Given the description of an element on the screen output the (x, y) to click on. 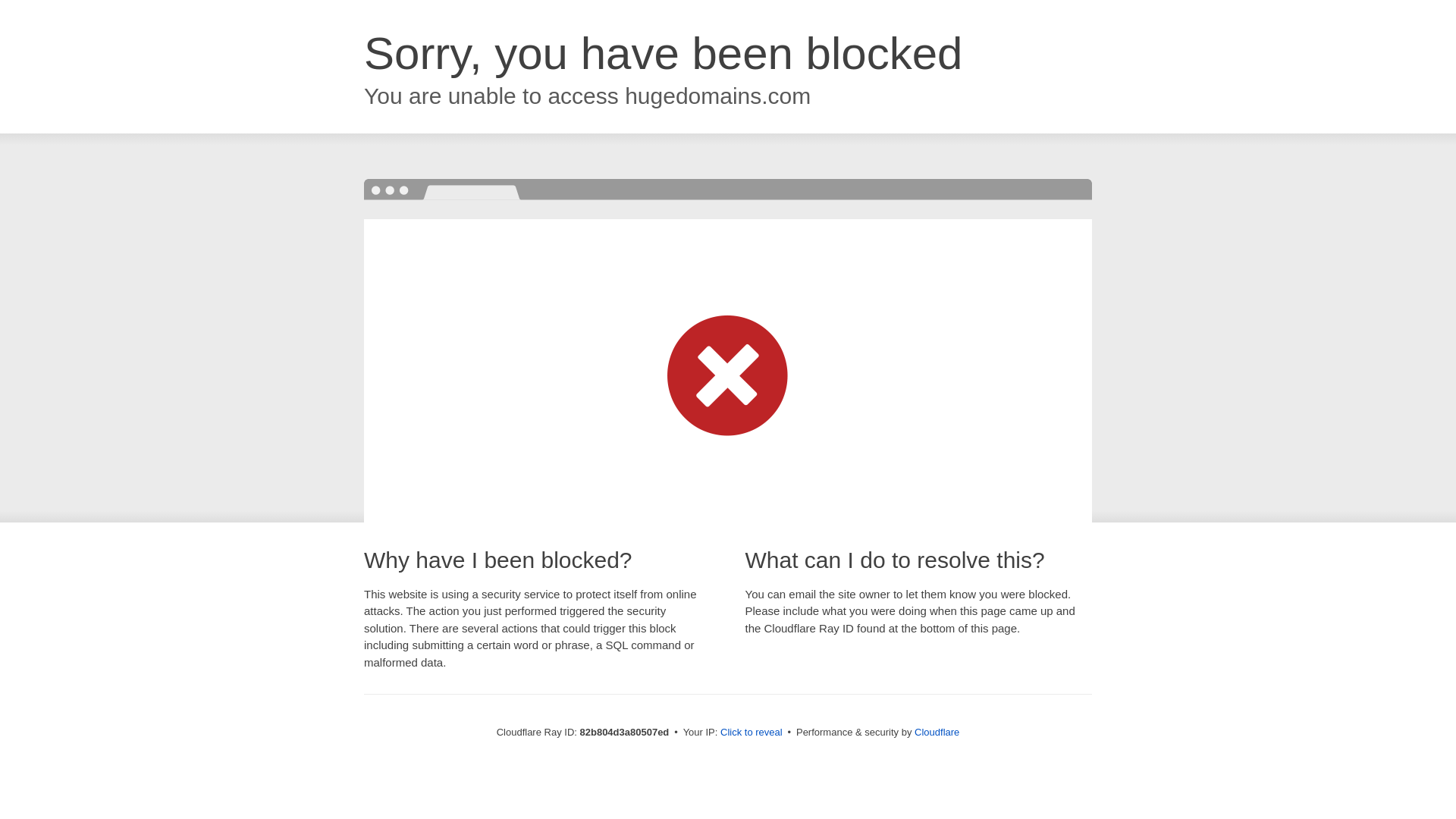
Cloudflare Element type: text (936, 731)
Click to reveal Element type: text (751, 732)
